Given the description of an element on the screen output the (x, y) to click on. 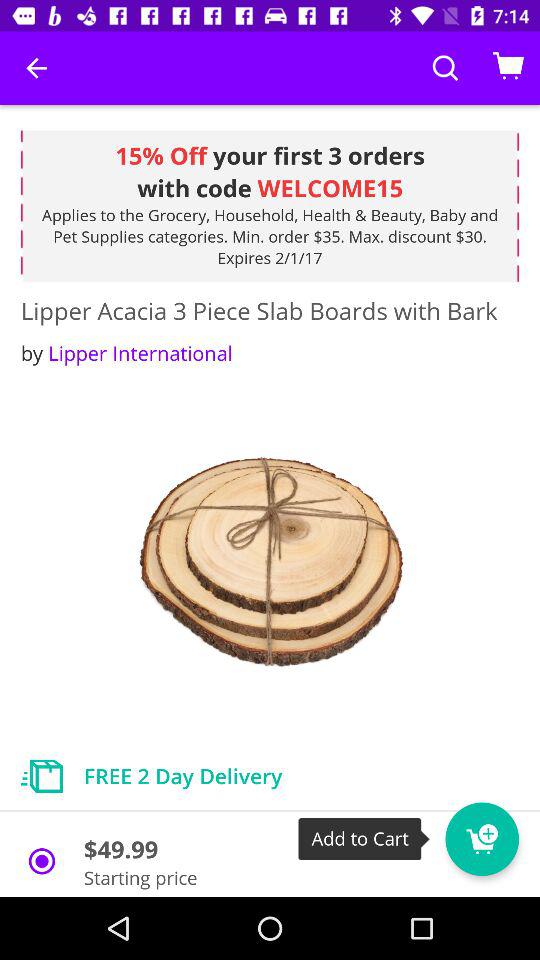
add to card (482, 839)
